Given the description of an element on the screen output the (x, y) to click on. 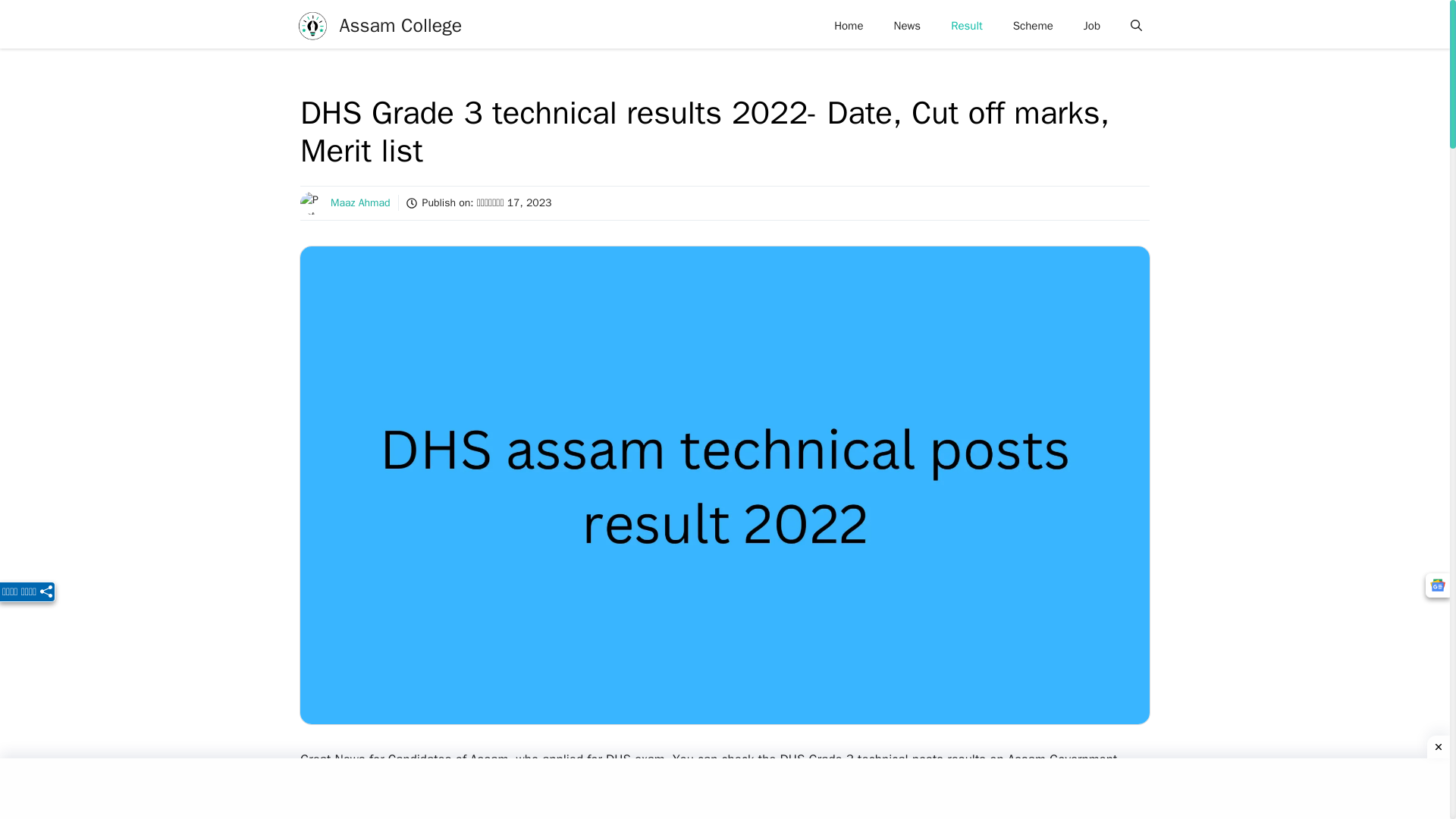
Maaz Ahmad (360, 202)
Assam College (401, 25)
News (906, 25)
Scheme (1032, 25)
Home (847, 25)
Job (1091, 25)
Result (966, 25)
